Given the description of an element on the screen output the (x, y) to click on. 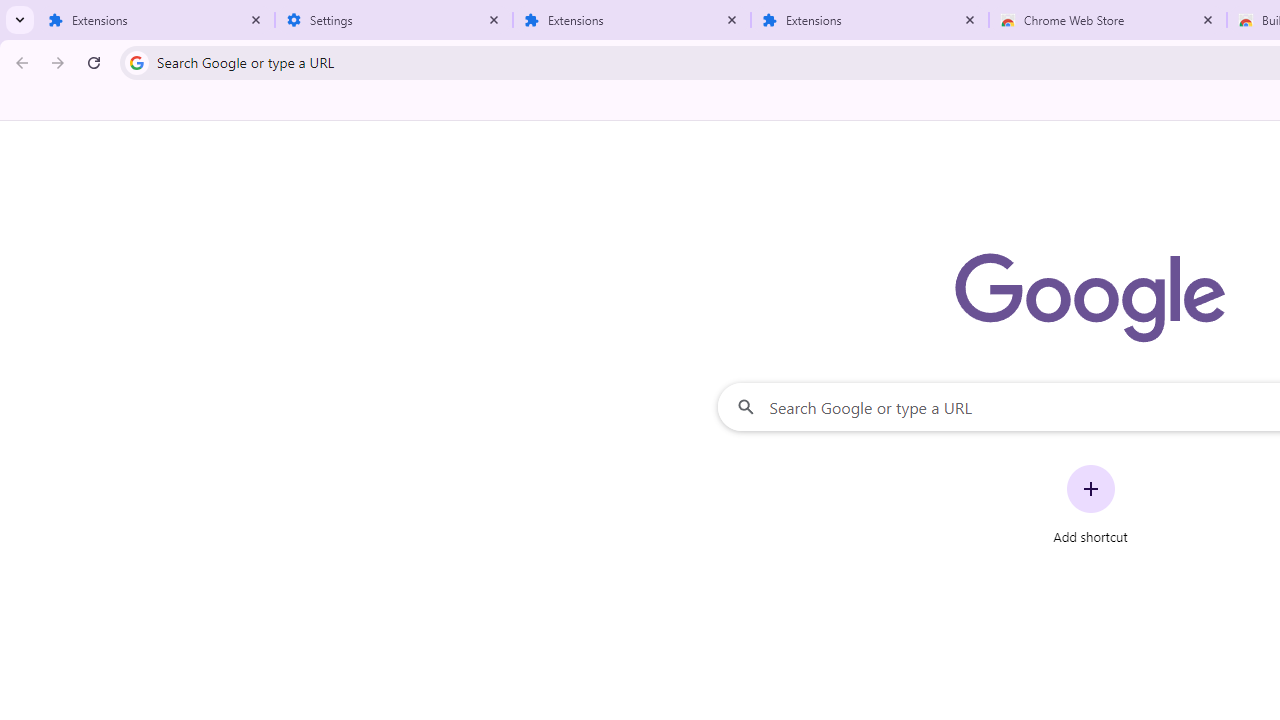
Settings (394, 20)
Add shortcut (1090, 504)
Extensions (156, 20)
Extensions (632, 20)
Chrome Web Store (1108, 20)
Extensions (870, 20)
